Given the description of an element on the screen output the (x, y) to click on. 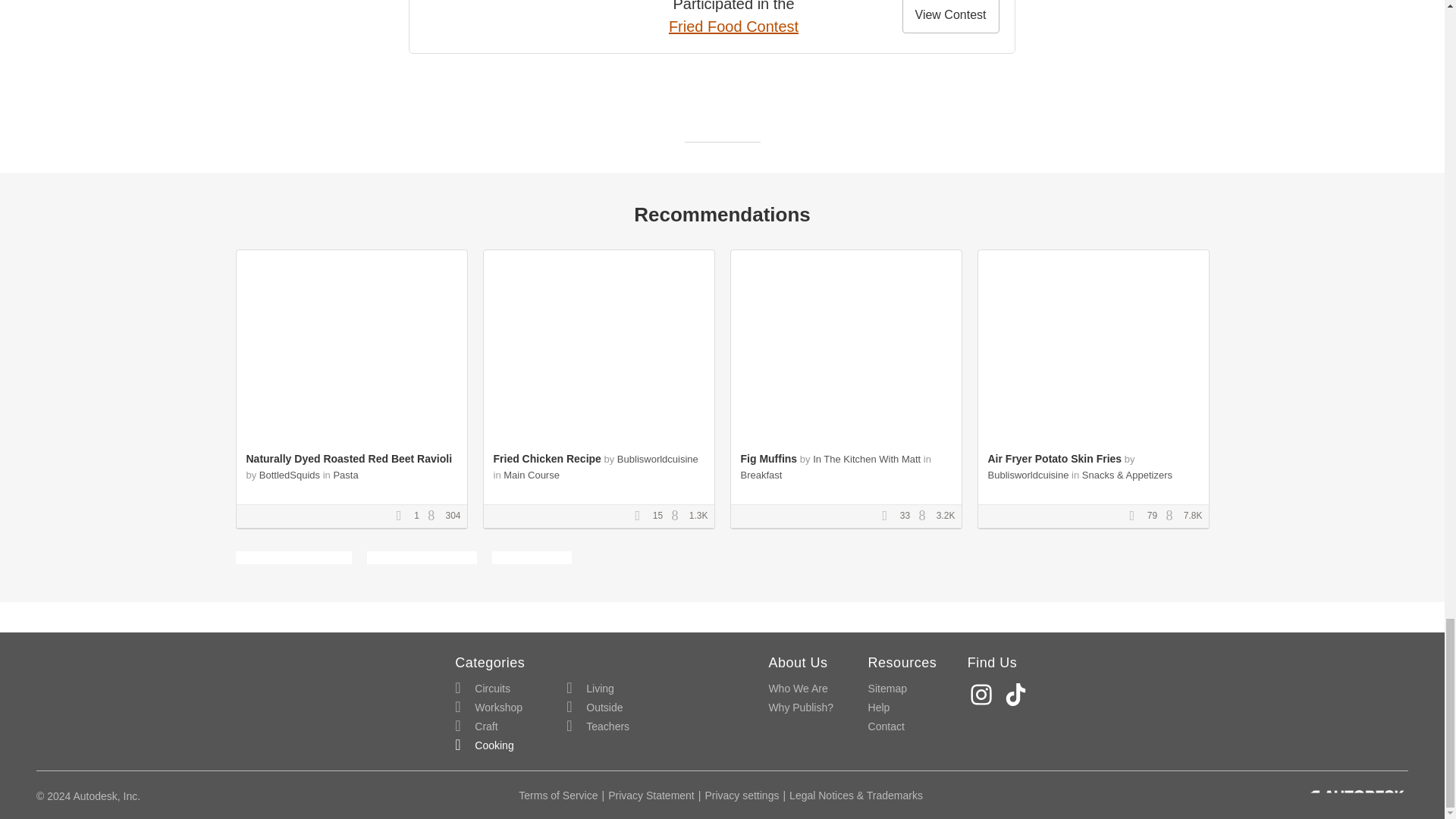
Pasta (345, 474)
Bublisworldcuisine (657, 459)
Favorites Count (404, 516)
In The Kitchen With Matt (866, 459)
Instagram (983, 694)
Favorites Count (1136, 516)
Views Count (1173, 516)
Breakfast (760, 474)
Views Count (678, 516)
Circuits (482, 688)
